Given the description of an element on the screen output the (x, y) to click on. 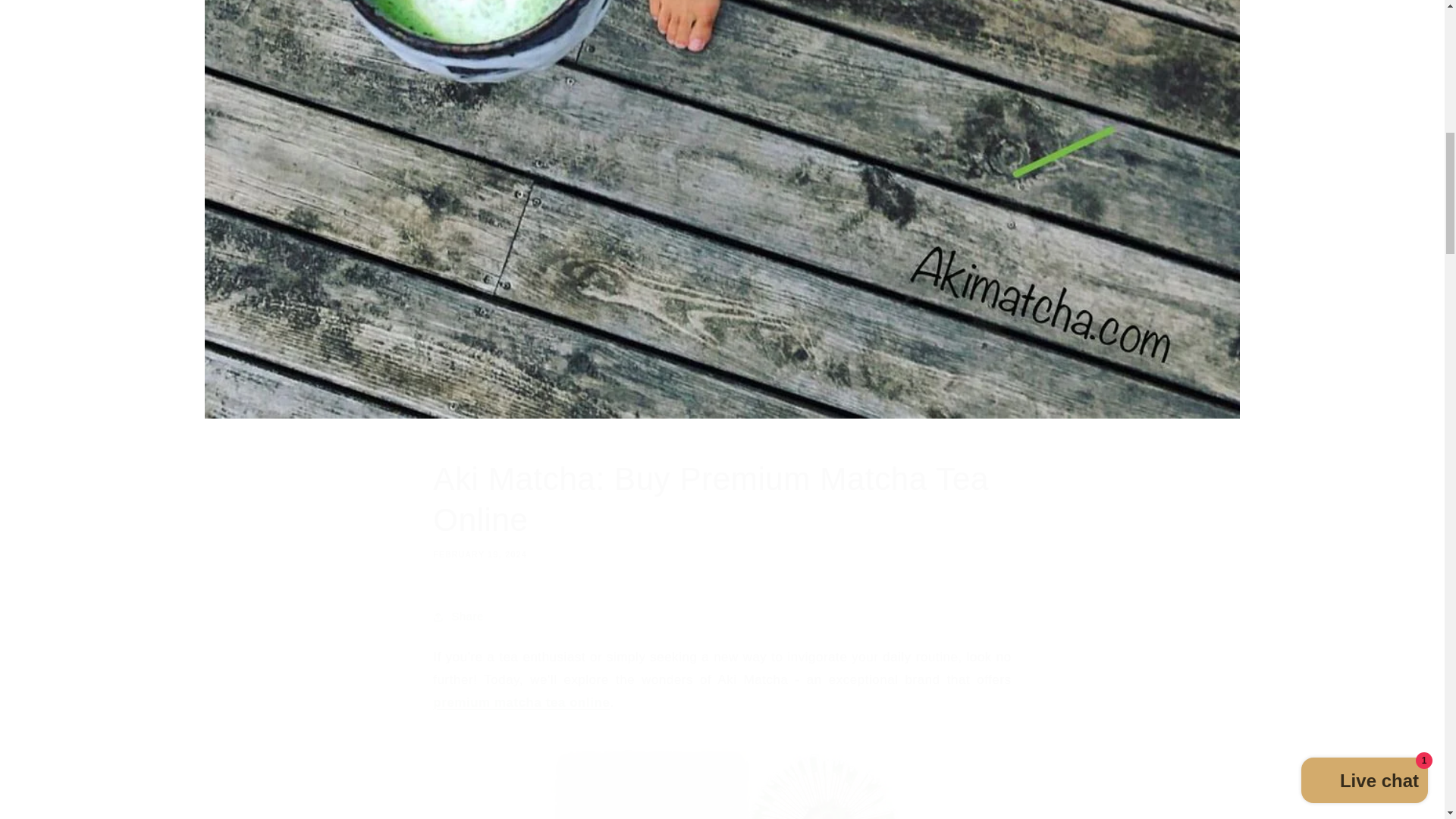
Share (721, 508)
